Given the description of an element on the screen output the (x, y) to click on. 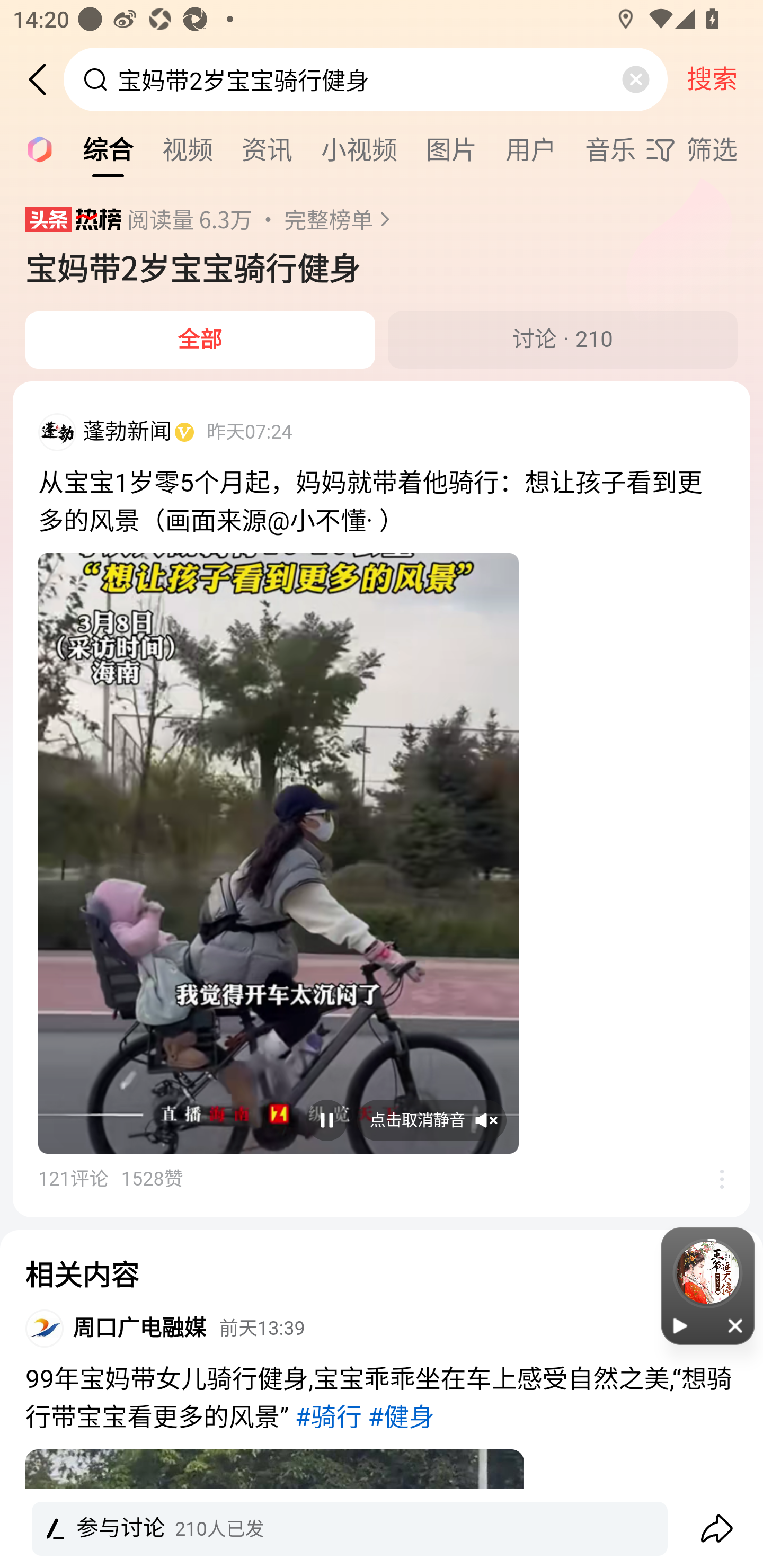
搜索框，宝妈带2岁宝宝骑行健身 (366, 79)
搜索 (711, 79)
返回 (44, 79)
清除 (635, 79)
视频 (187, 148)
资讯 (266, 148)
小视频 (359, 148)
图片 (451, 148)
用户 (530, 148)
音乐 (610, 148)
筛选 (703, 149)
AI问答 (34, 148)
点击取消静音 取消静音 (431, 1120)
播放 关闭 (708, 1286)
播放 (680, 1325)
关闭 (736, 1325)
